Given the description of an element on the screen output the (x, y) to click on. 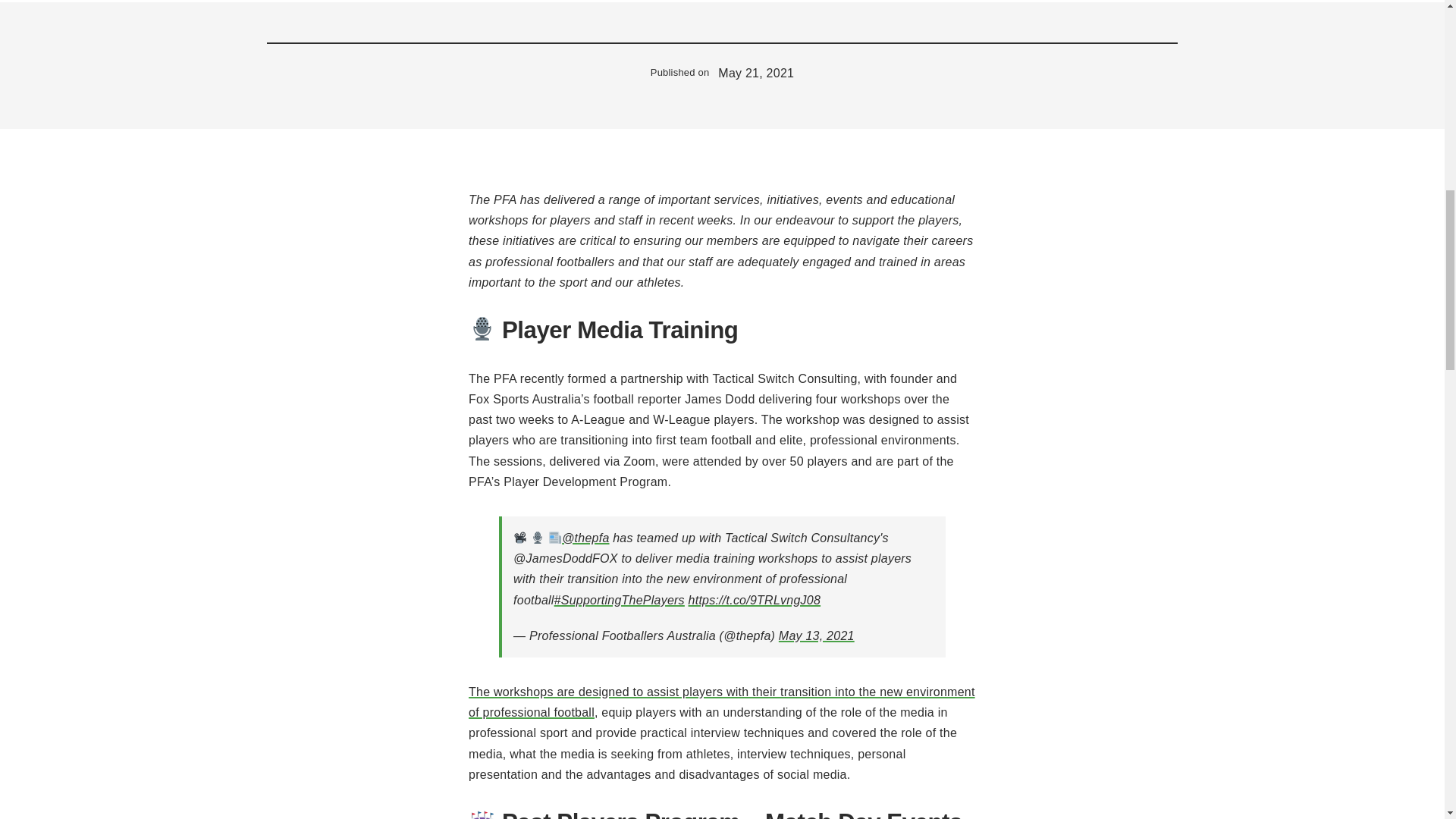
May 13, 2021 (816, 635)
